Given the description of an element on the screen output the (x, y) to click on. 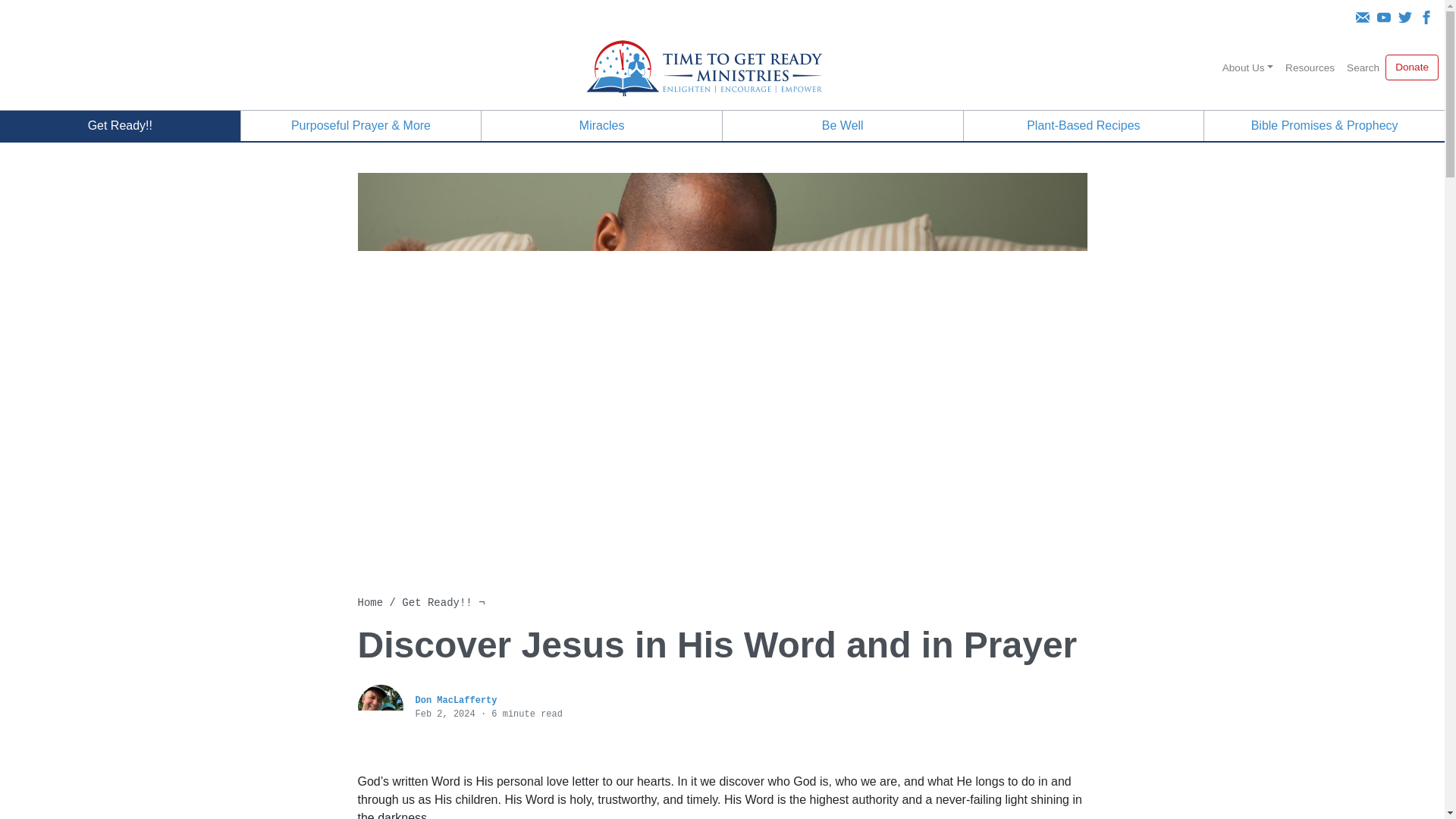
About Us (1247, 67)
Resources (1309, 67)
Donate (1412, 67)
Search (1363, 67)
Get Ready!! (120, 125)
